Given the description of an element on the screen output the (x, y) to click on. 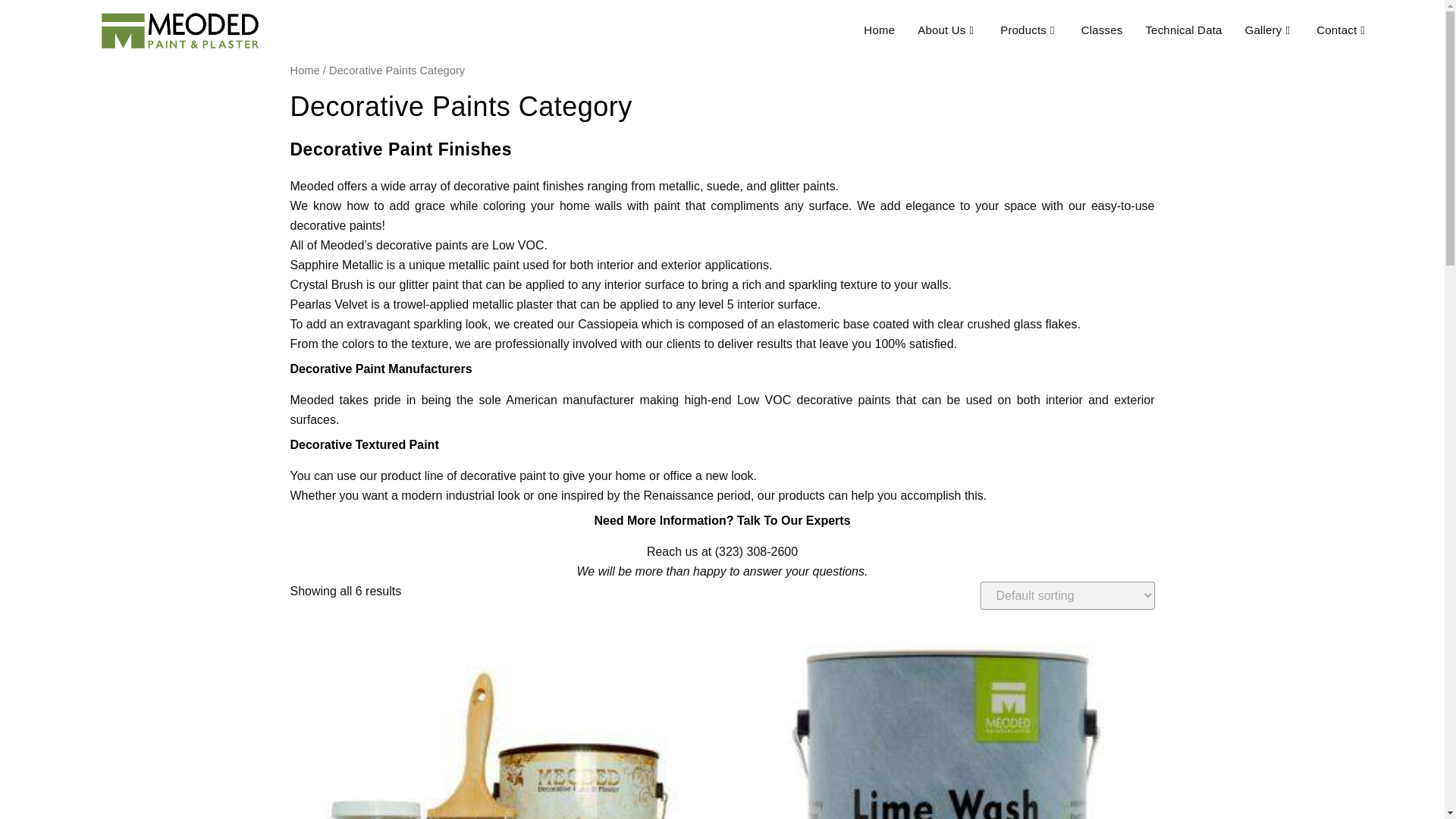
Classes (1102, 30)
Contact (1342, 30)
About Us (946, 30)
Gallery (1269, 30)
Technical Data (1183, 30)
Products (1028, 30)
